Given the description of an element on the screen output the (x, y) to click on. 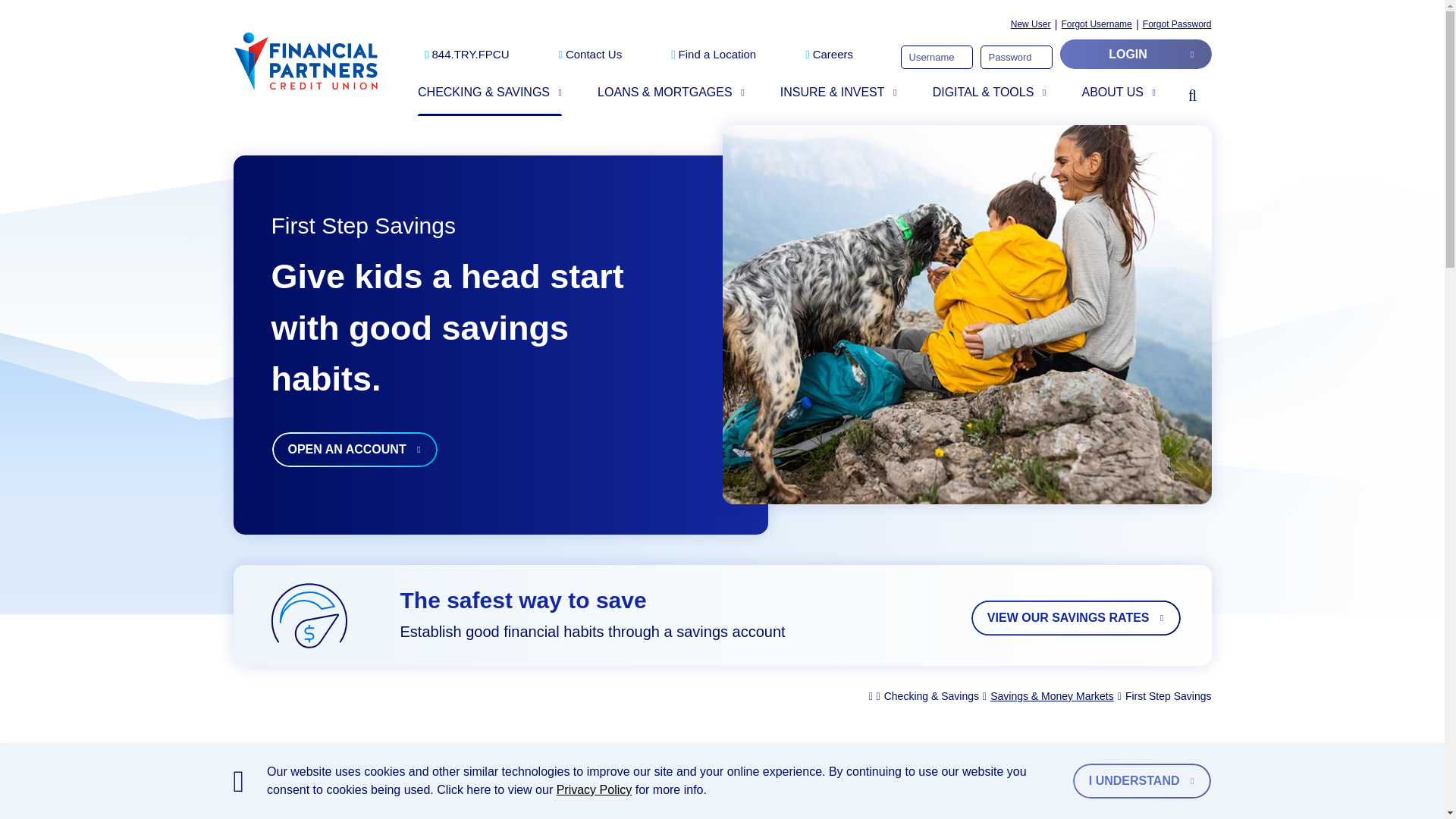
Privacy Policy (593, 789)
LOGIN (1135, 53)
844.TRY.FPCU (467, 54)
Find a Location (713, 54)
Forgot Password (1176, 23)
Careers (828, 54)
Forgot Username (1096, 23)
I UNDERSTAND (1141, 781)
New User (1030, 23)
Contact Us (590, 54)
